Given the description of an element on the screen output the (x, y) to click on. 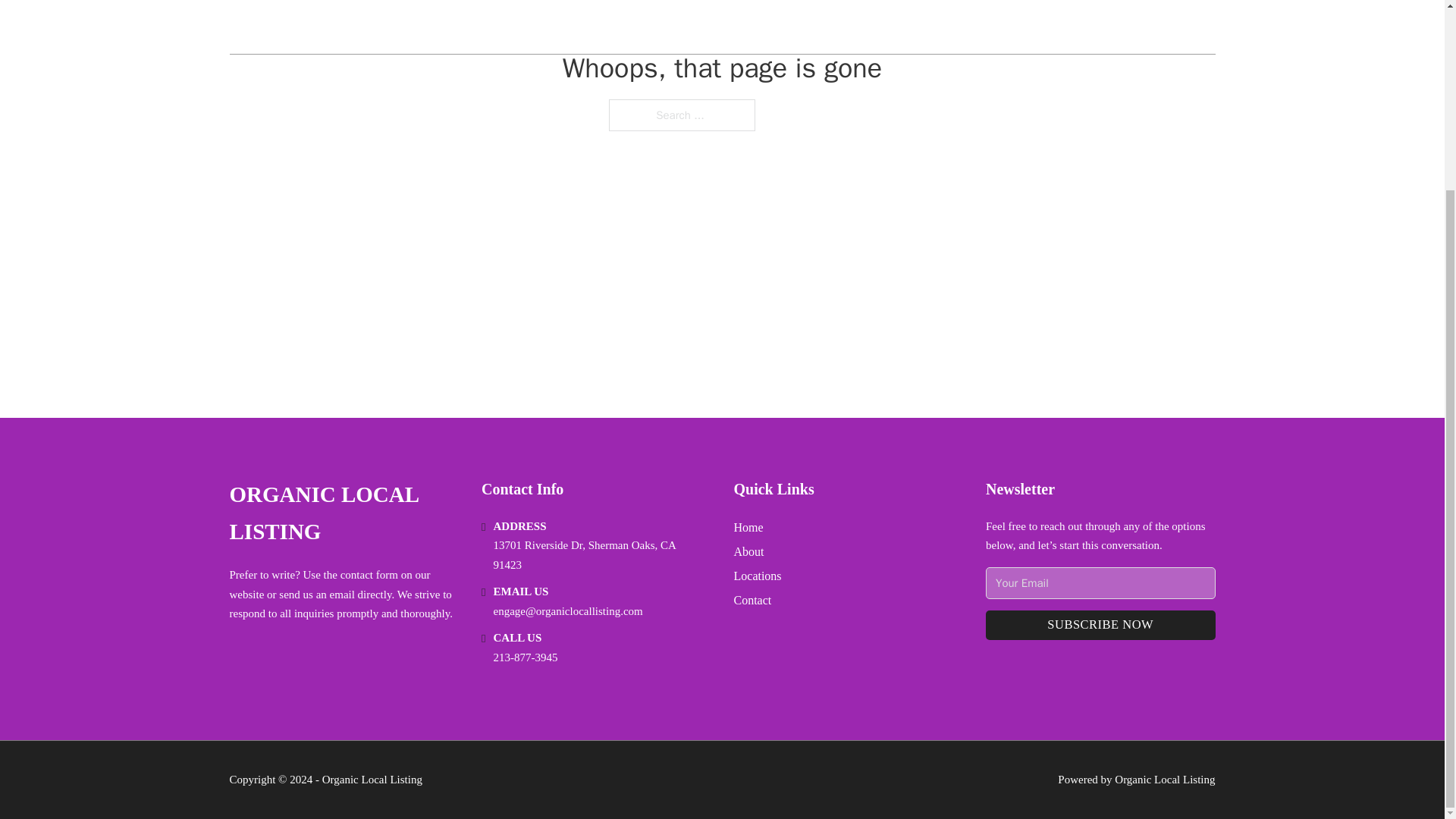
Contact (752, 599)
Locations (757, 575)
About (748, 551)
ORGANIC LOCAL LISTING (343, 513)
Home (747, 526)
SUBSCRIBE NOW (1100, 624)
213-877-3945 (525, 657)
